Given the description of an element on the screen output the (x, y) to click on. 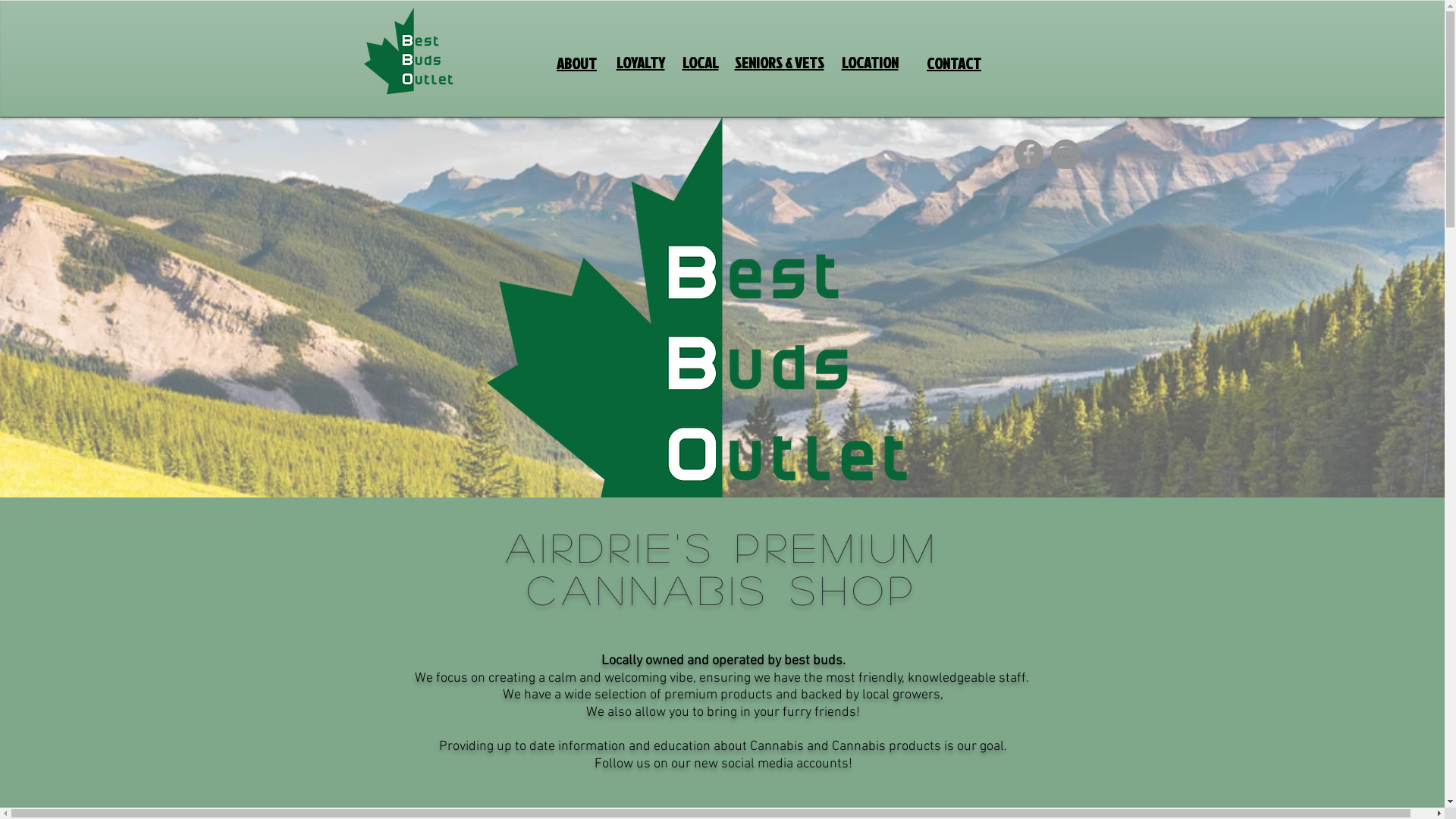
SENIORS & VETS Element type: text (778, 62)
CONTACT Element type: text (953, 63)
ABOUT Element type: text (576, 63)
LOCAL Element type: text (700, 62)
LOCATION Element type: text (869, 62)
LOYALTY Element type: text (639, 62)
